Given the description of an element on the screen output the (x, y) to click on. 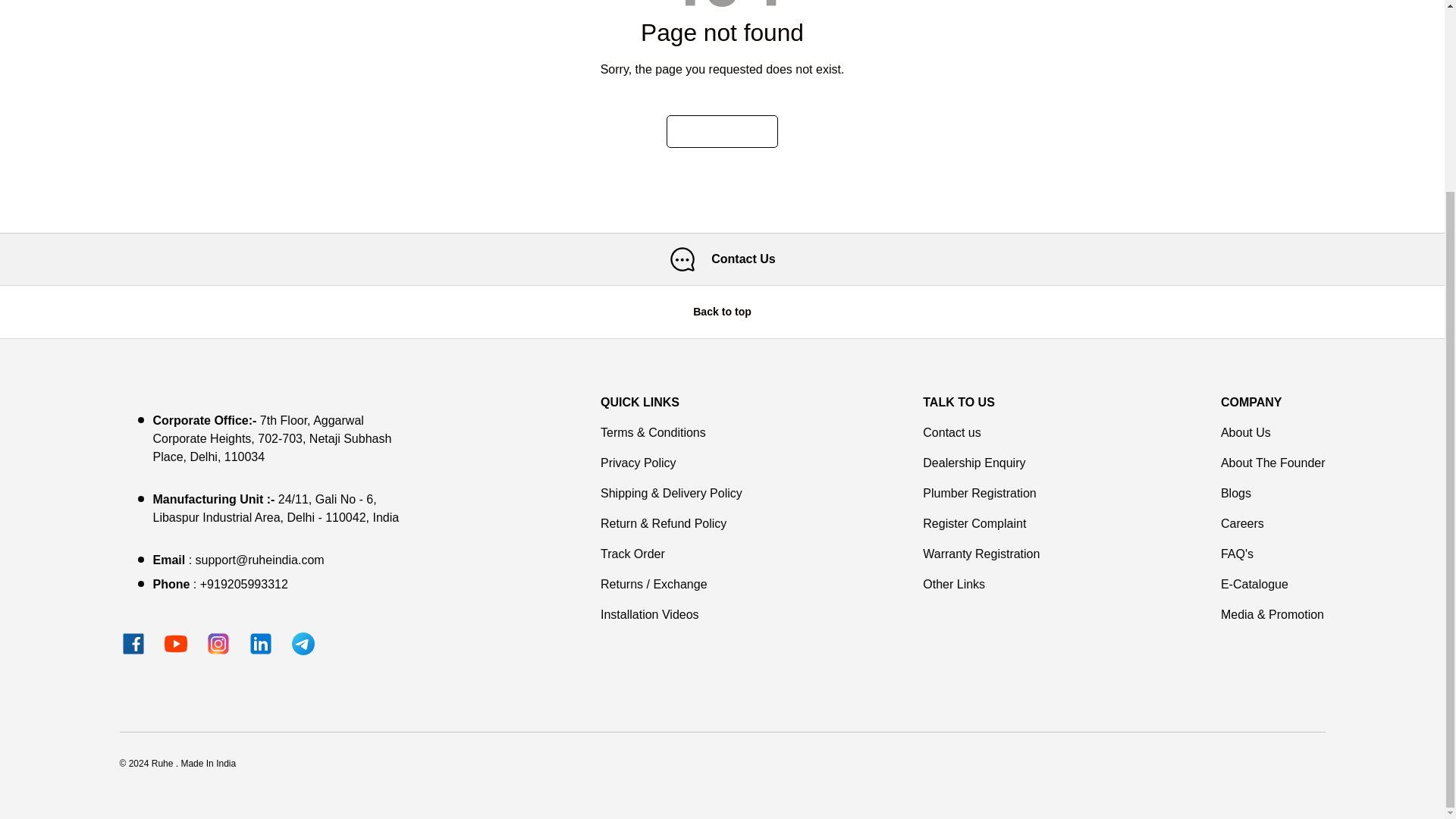
Ruhe  on Instagram (218, 643)
Ruhe  on Tumblr (303, 643)
Ruhe  on Facebook (133, 643)
Ruhe  on LinkedIn (261, 643)
Ruhe  on YouTube (175, 643)
Contact Us (721, 258)
